Given the description of an element on the screen output the (x, y) to click on. 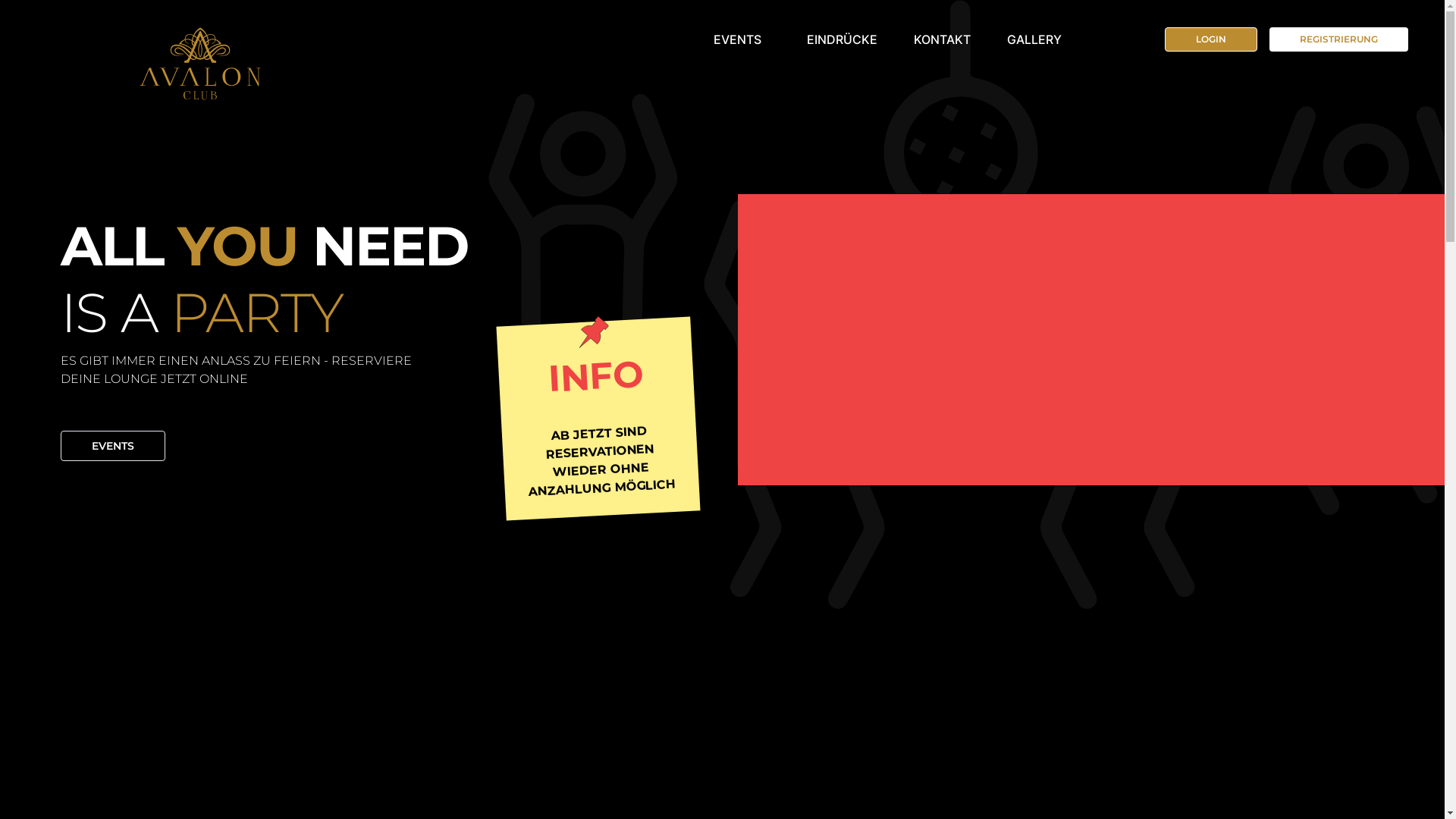
Avalon Element type: text (145, 60)
LOGIN Element type: text (1210, 39)
GALLERY Element type: text (1034, 39)
EVENTS Element type: text (112, 445)
EVENTS Element type: text (737, 39)
KONTAKT Element type: text (941, 39)
Avalon Club Youtube Channel Element type: hover (1090, 339)
REGISTRIERUNG Element type: text (1338, 39)
